Given the description of an element on the screen output the (x, y) to click on. 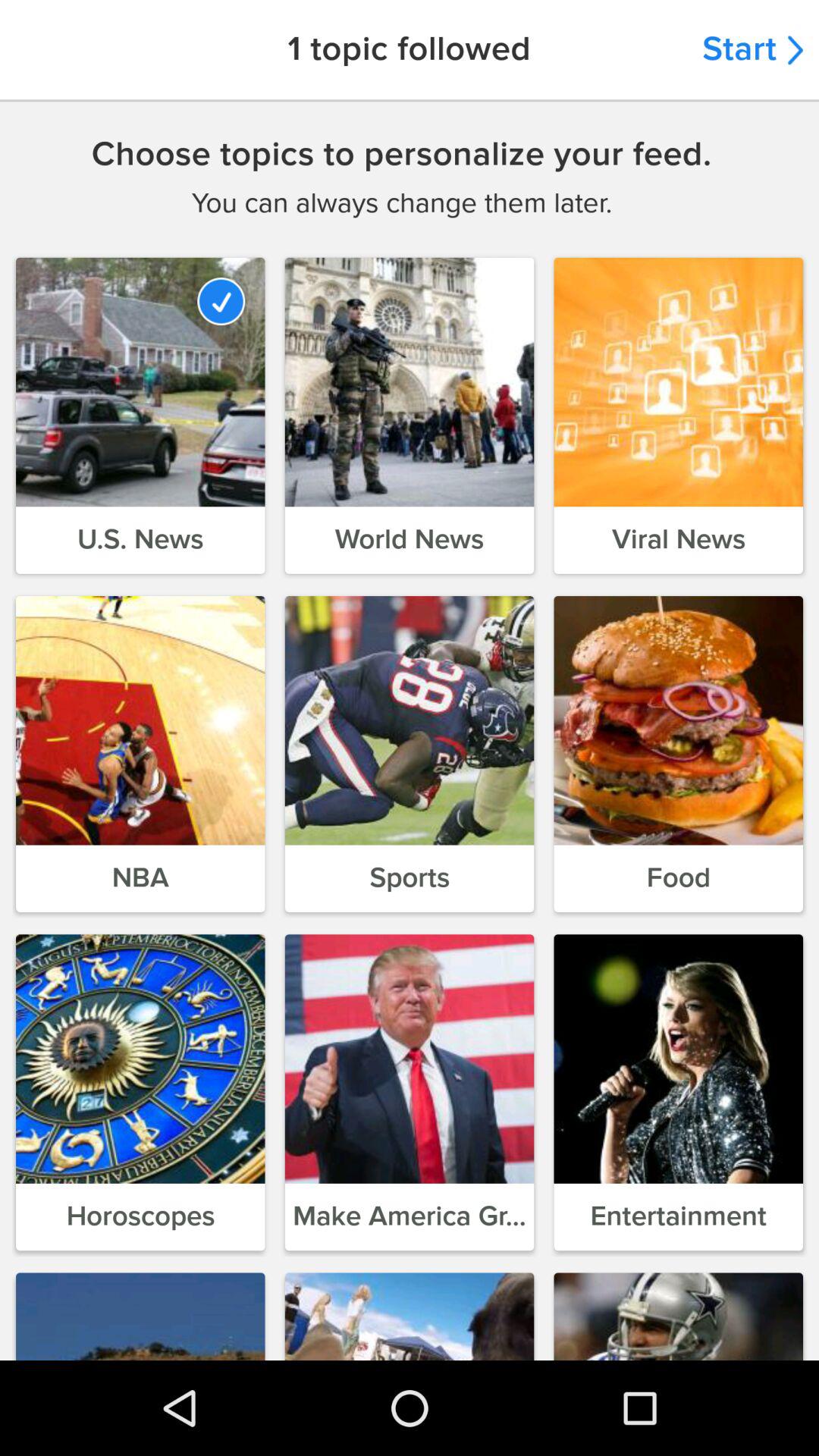
tap the item to the right of the 1 topic followed (752, 49)
